Given the description of an element on the screen output the (x, y) to click on. 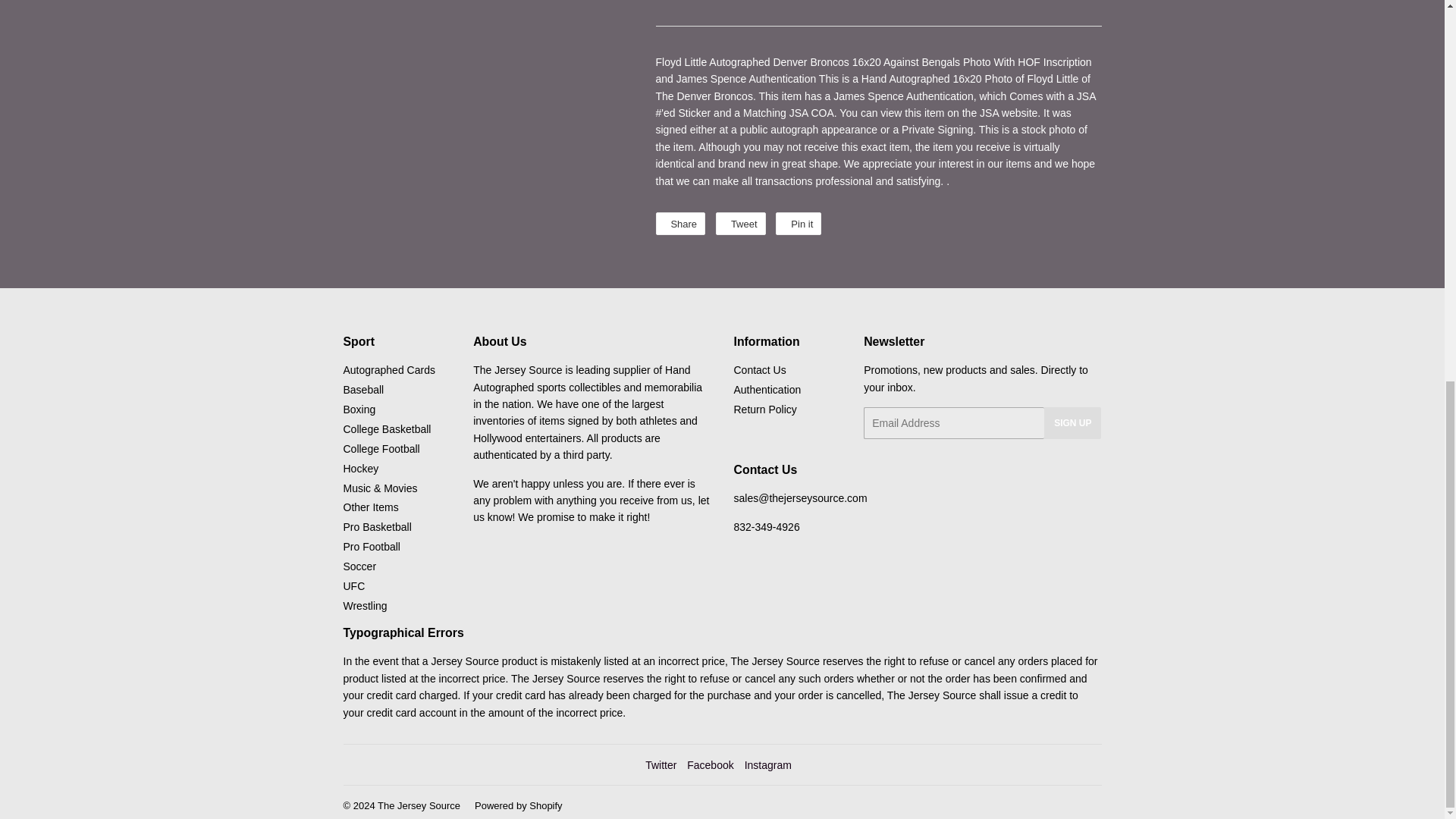
The Jersey Source on Instagram (768, 765)
The Jersey Source on Facebook (710, 765)
The Jersey Source on Twitter (661, 765)
Share on Facebook (679, 223)
Pin on Pinterest (798, 223)
Tweet on Twitter (740, 223)
